Given the description of an element on the screen output the (x, y) to click on. 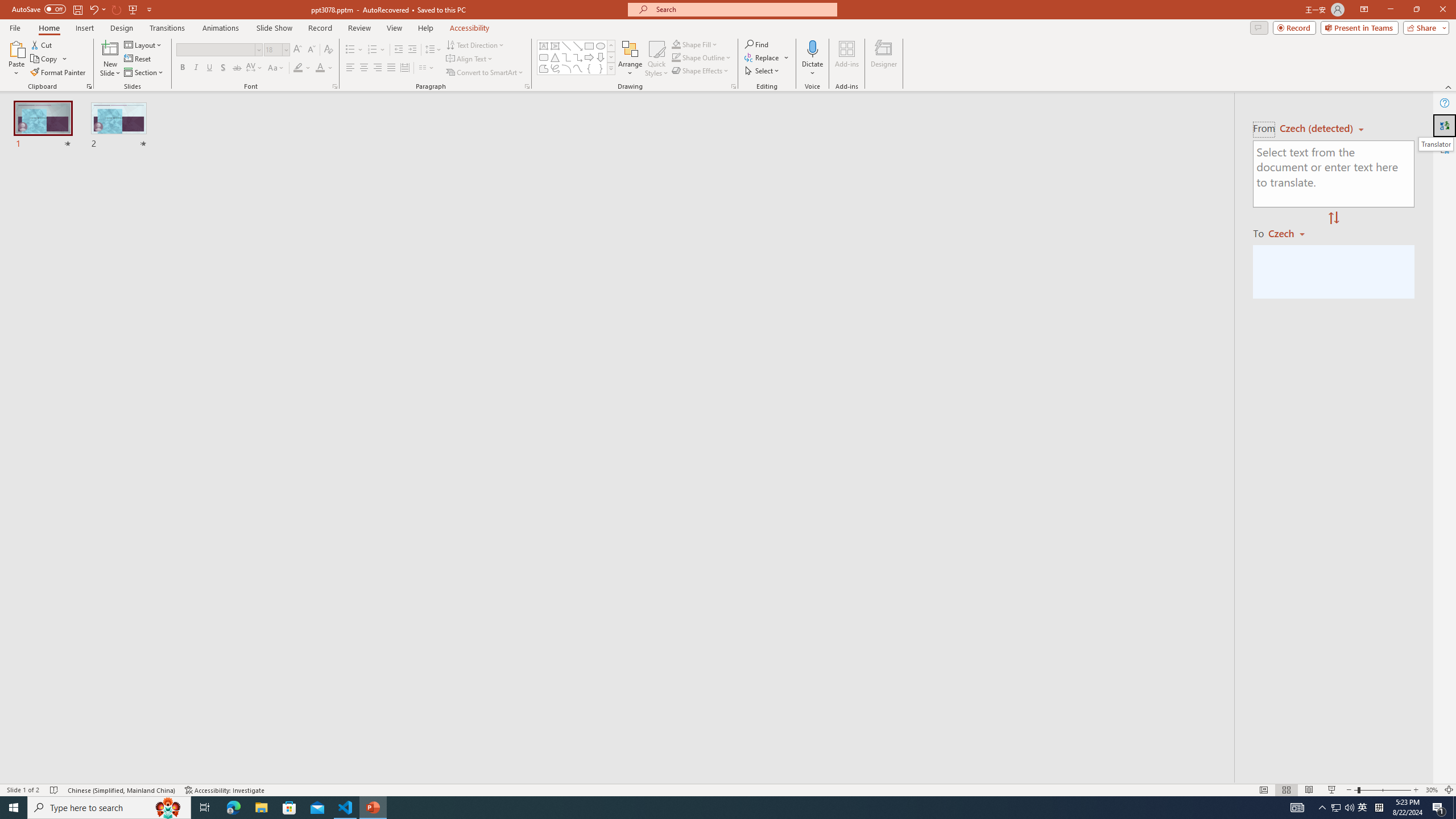
Convert to SmartArt (485, 72)
Line Spacing (433, 49)
Line Arrow (577, 45)
Increase Indent (412, 49)
Replace... (767, 56)
